Given the description of an element on the screen output the (x, y) to click on. 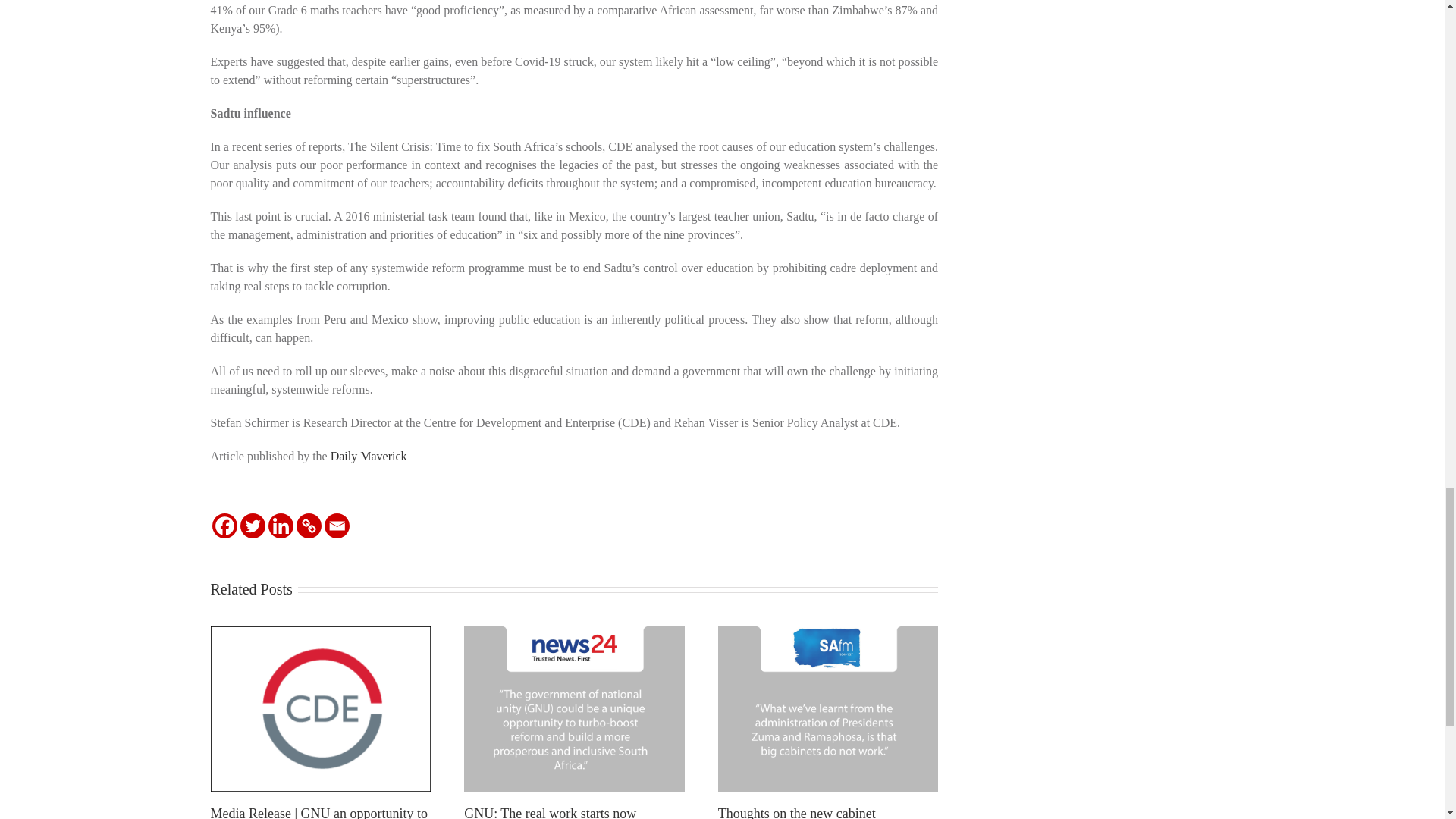
Linkedin (280, 525)
Email (336, 525)
Facebook (224, 525)
GNU: The real work starts now (550, 812)
Thoughts on the new cabinet (796, 812)
Copy Link (307, 525)
Twitter (252, 525)
